Given the description of an element on the screen output the (x, y) to click on. 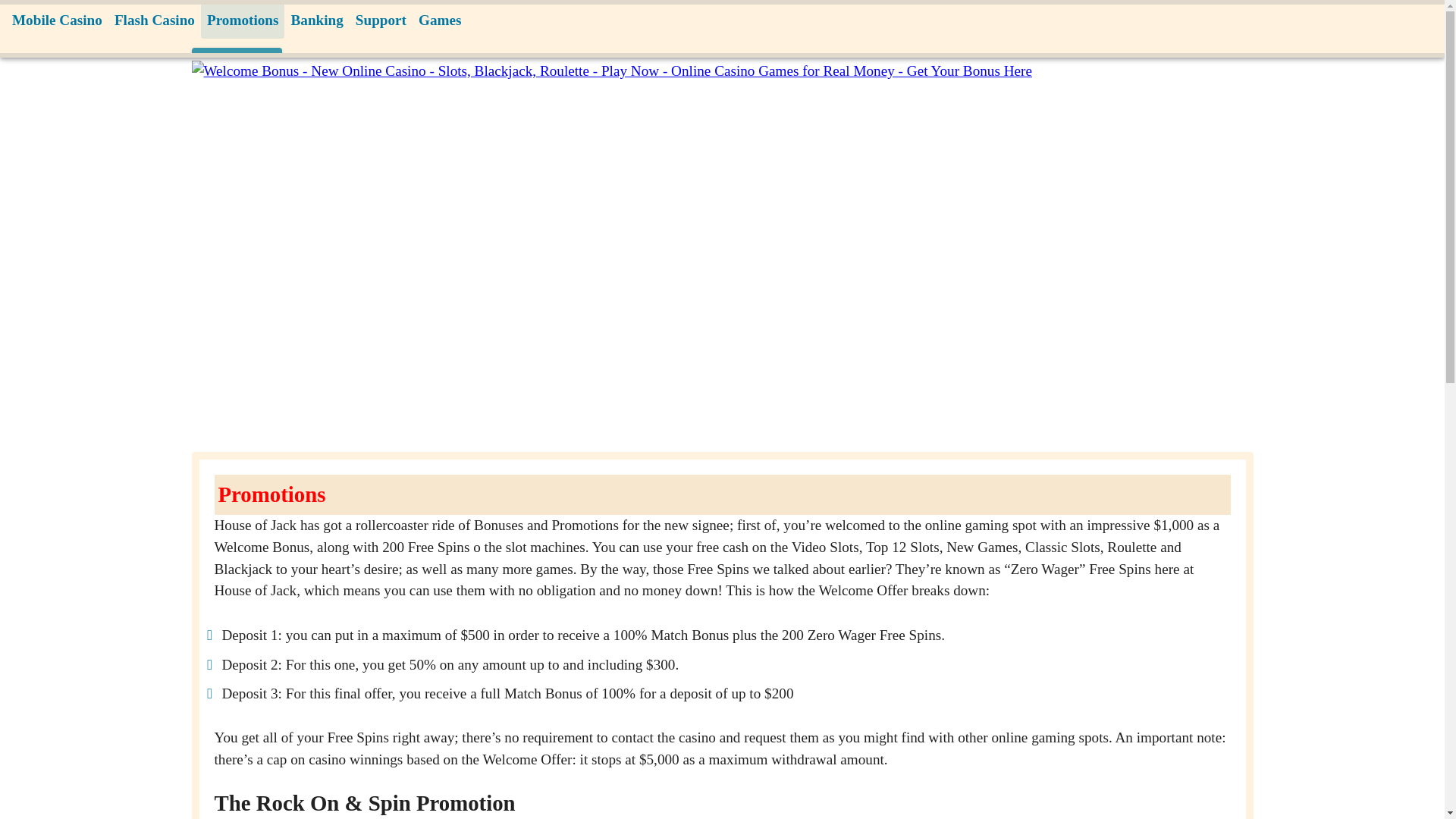
Banking (316, 20)
Promotions (242, 20)
Flash Casino (153, 20)
Games (439, 20)
Support (380, 20)
Mobile Casino (56, 20)
